Given the description of an element on the screen output the (x, y) to click on. 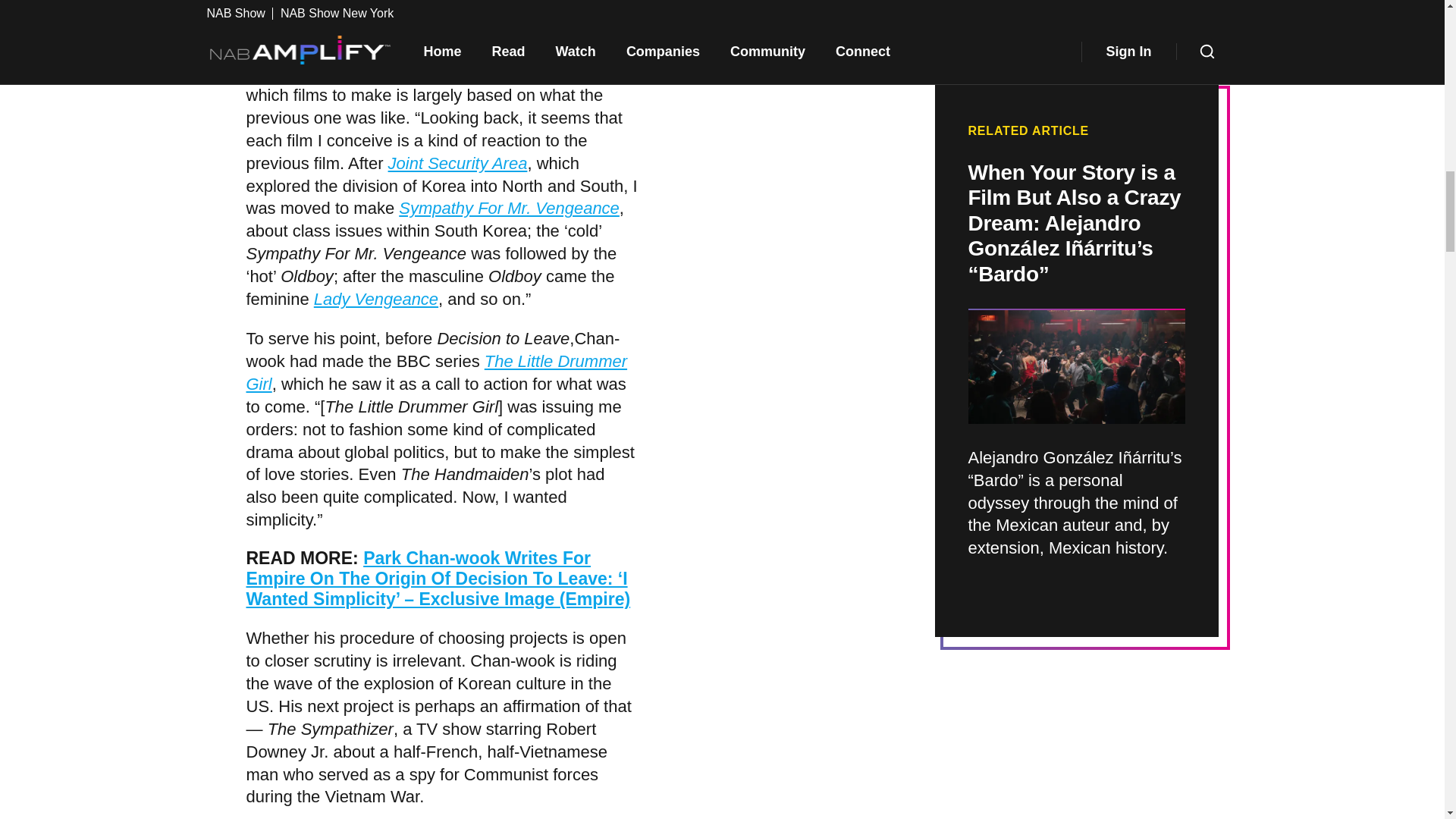
Empire (507, 72)
Lady Vengeance (376, 298)
Joint Security Area (457, 162)
Sympathy For Mr. Vengeance (509, 208)
The Little Drummer Girl (436, 372)
